Given the description of an element on the screen output the (x, y) to click on. 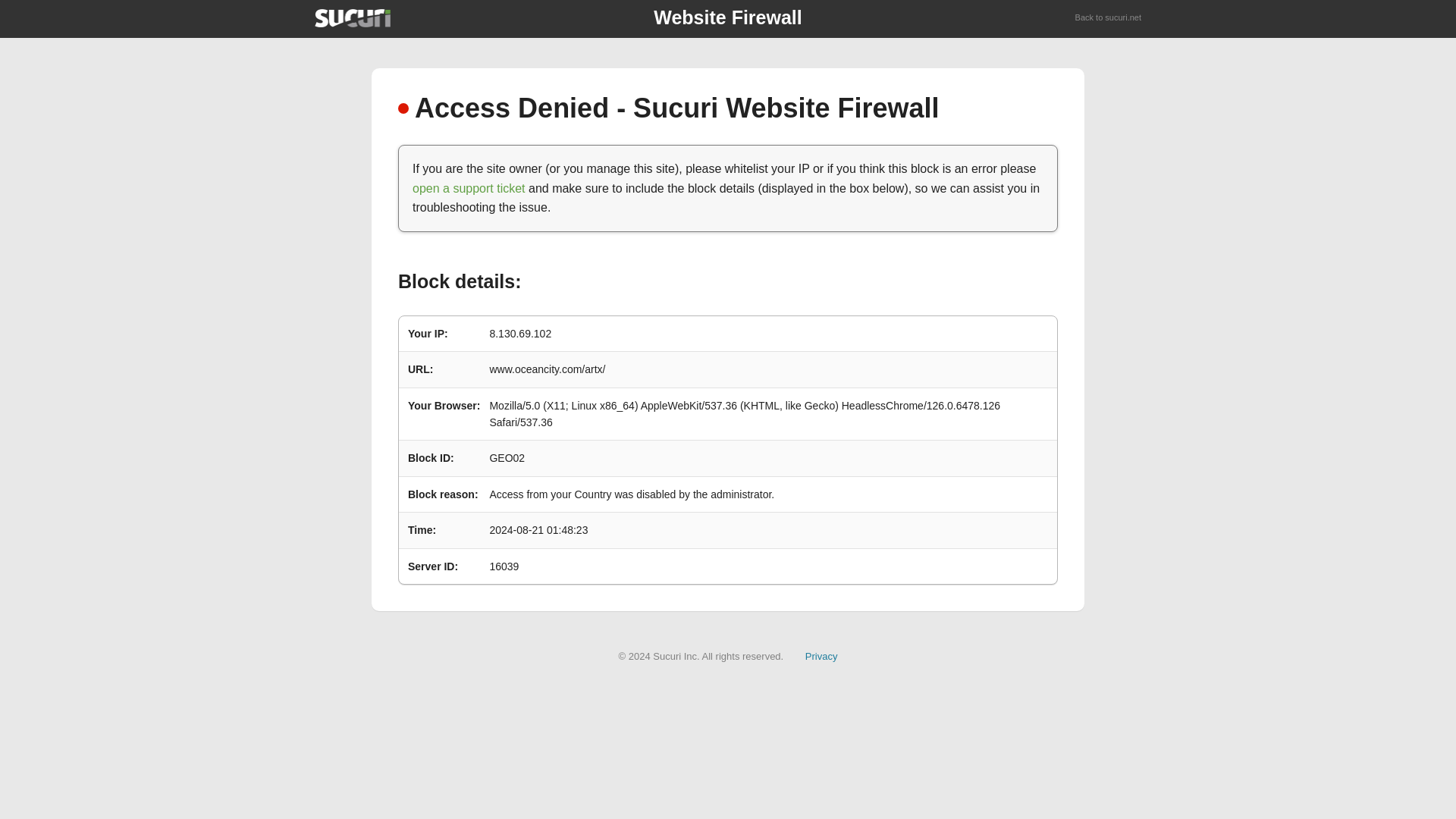
Privacy (821, 655)
Back to sucuri.net (1108, 18)
open a support ticket (468, 187)
